Given the description of an element on the screen output the (x, y) to click on. 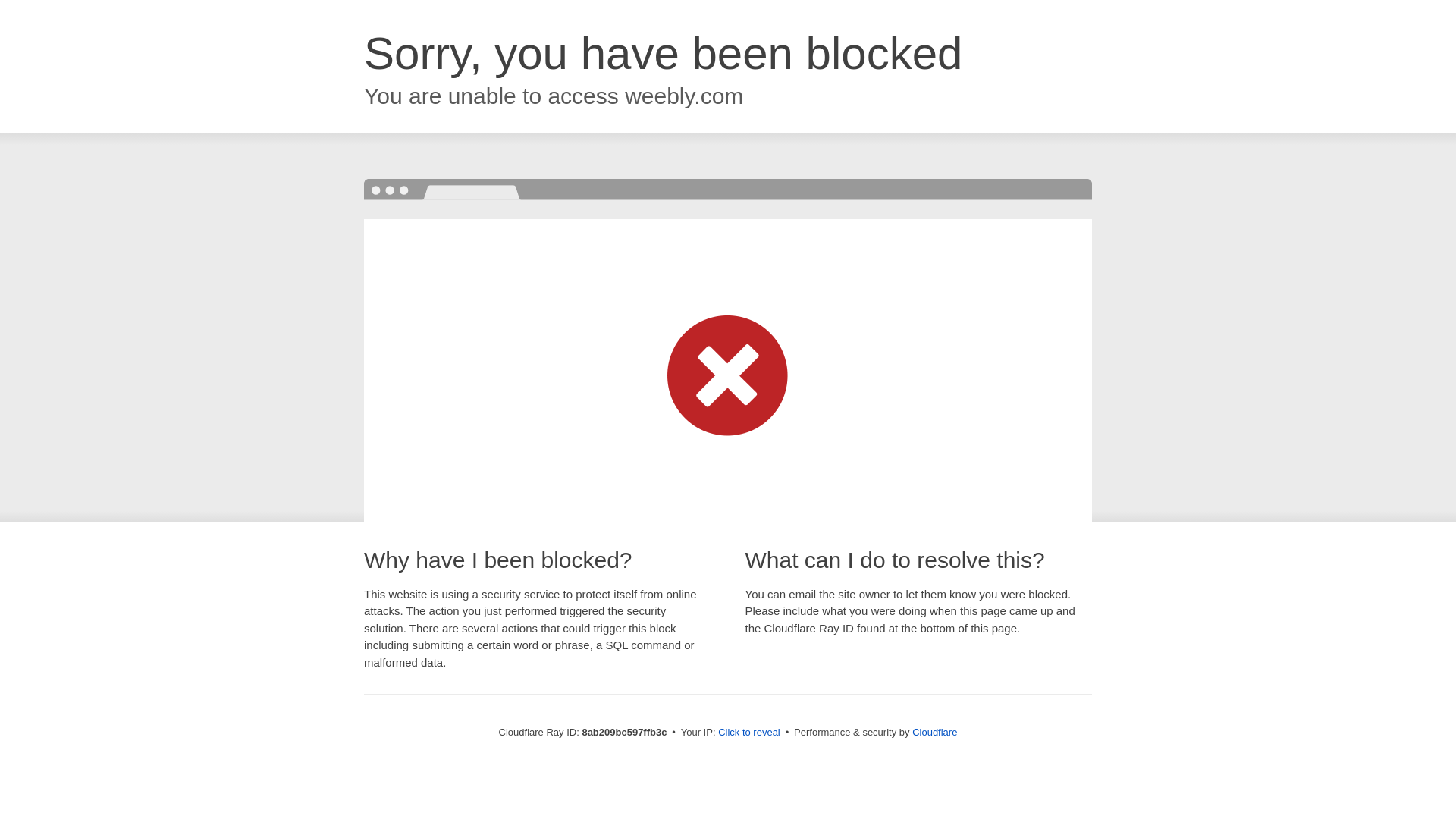
Cloudflare (934, 731)
Click to reveal (748, 732)
